Given the description of an element on the screen output the (x, y) to click on. 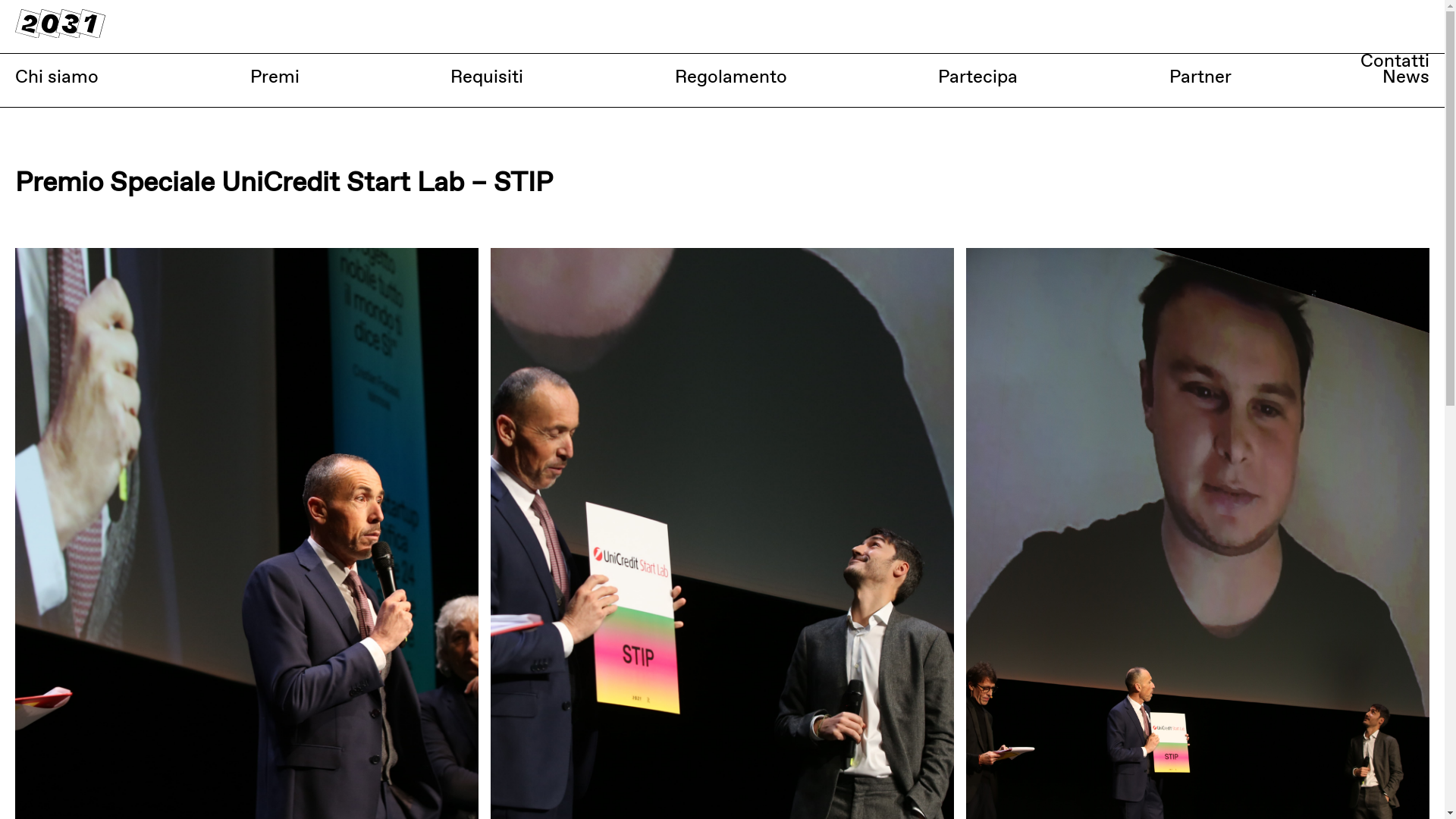
Partner Element type: text (1200, 75)
2031 Element type: text (60, 22)
Chi siamo Element type: text (56, 75)
Partecipa Element type: text (977, 75)
Contatti Element type: text (1394, 60)
Requisiti Element type: text (486, 75)
News Element type: text (1405, 75)
Premi Element type: text (274, 75)
Regolamento Element type: text (730, 75)
